Given the description of an element on the screen output the (x, y) to click on. 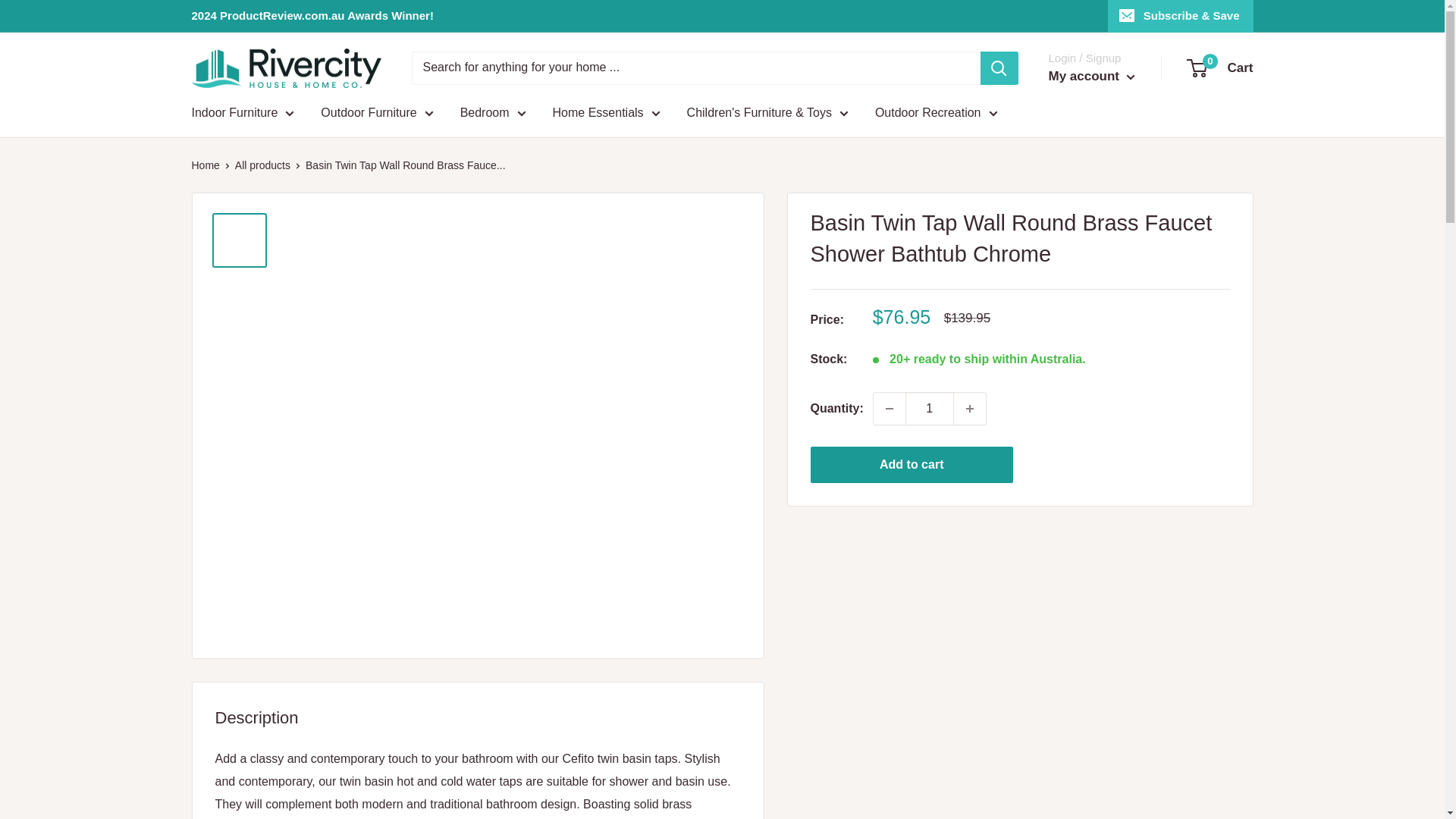
1 (929, 409)
Increase quantity by 1 (969, 409)
Decrease quantity by 1 (889, 409)
